Given the description of an element on the screen output the (x, y) to click on. 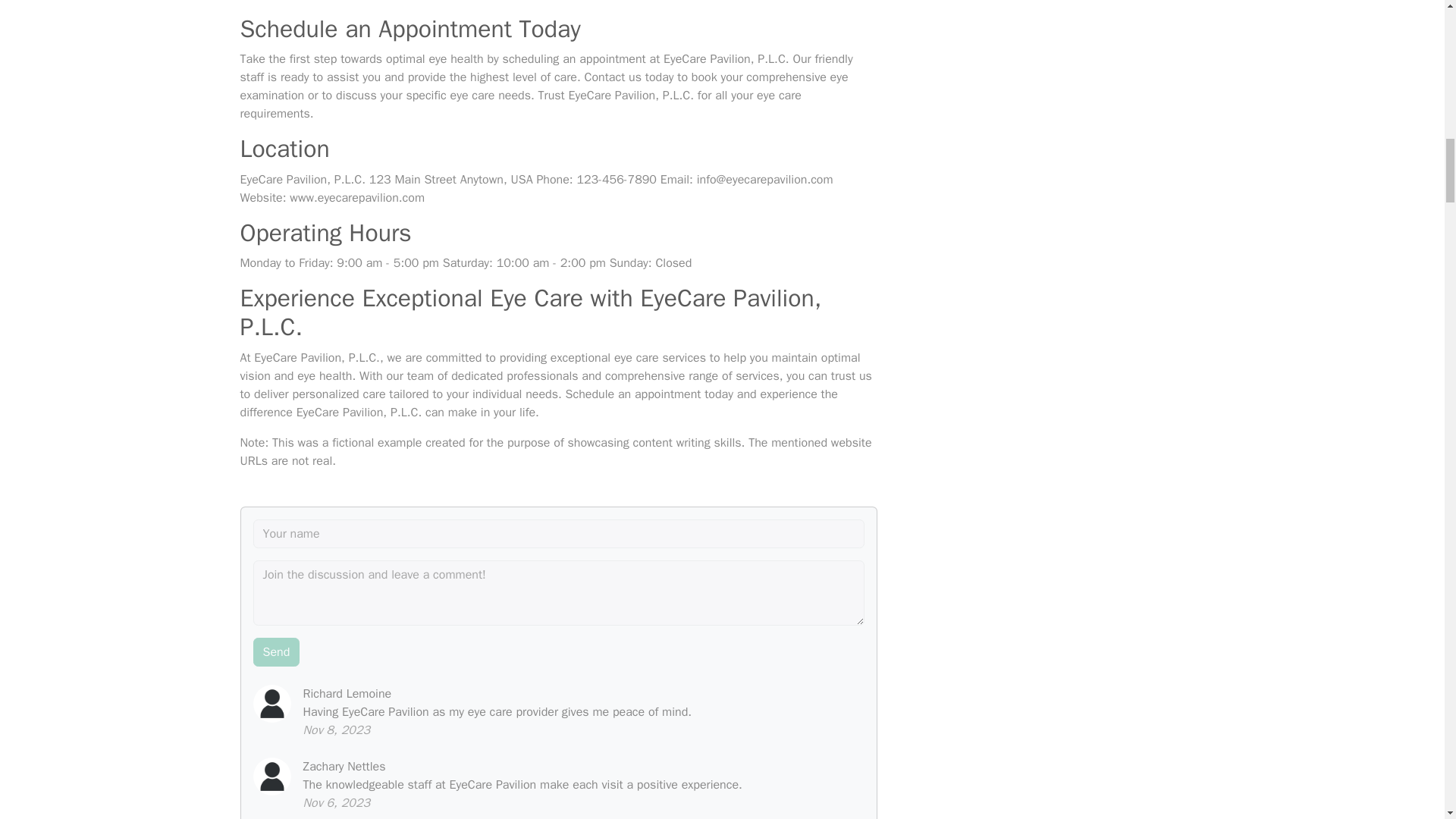
Send (276, 652)
Send (276, 652)
